Given the description of an element on the screen output the (x, y) to click on. 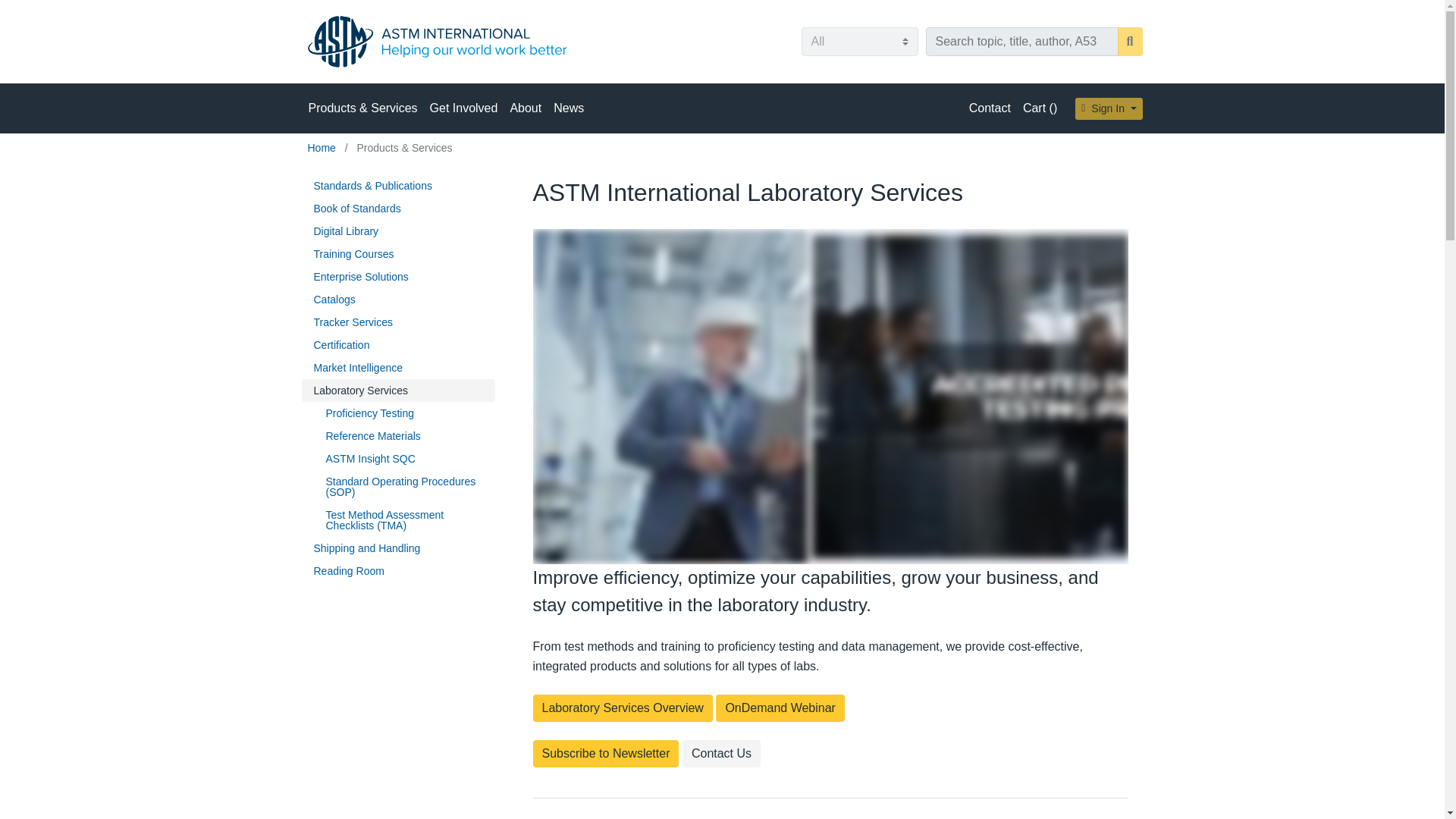
All (858, 41)
Go to Home Page (323, 147)
